Given the description of an element on the screen output the (x, y) to click on. 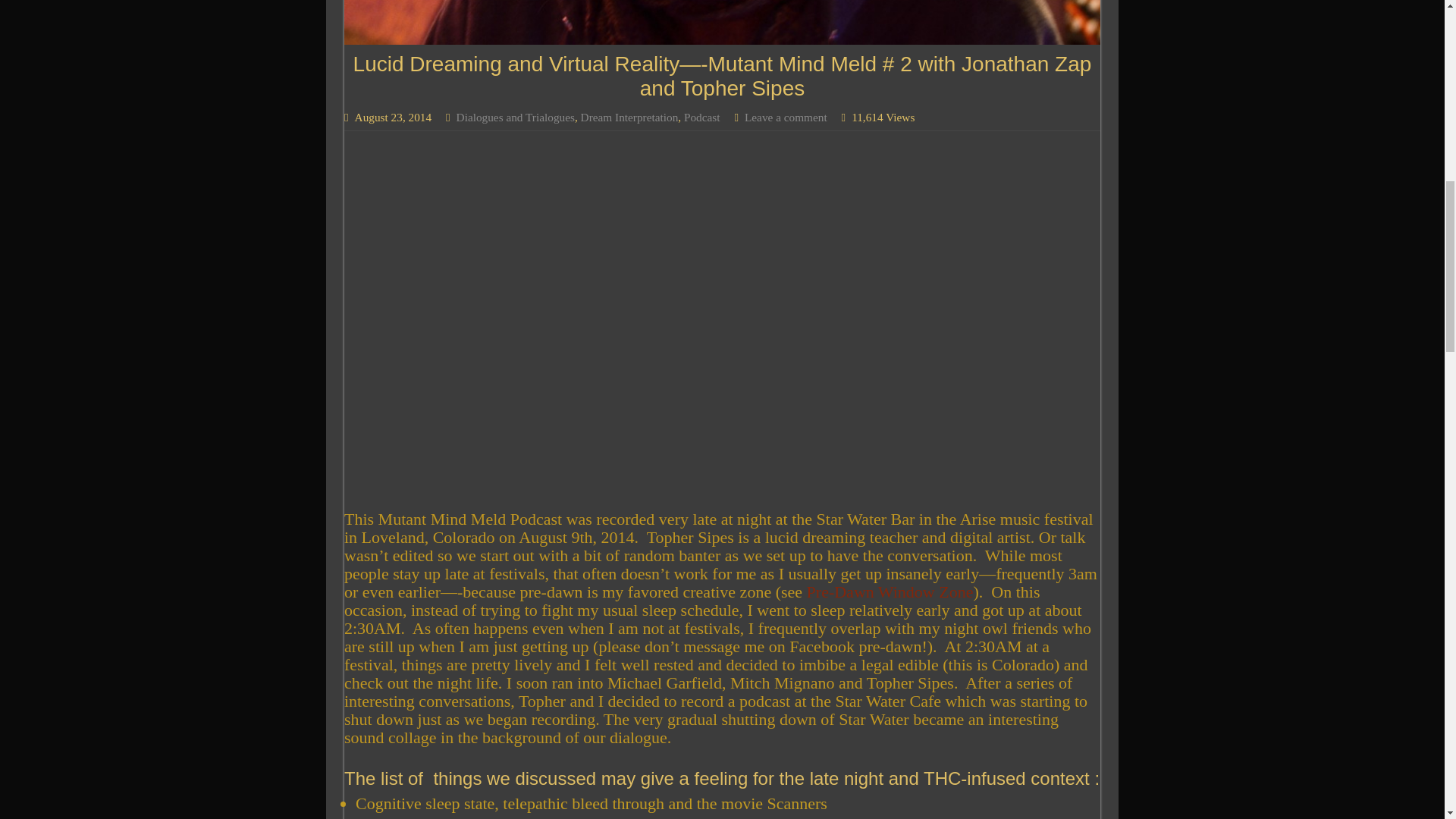
Pre-Dawn Window Zone (890, 591)
Dream Interpretation (629, 116)
Leave a comment (785, 116)
Podcast (702, 116)
Dialogues and Trialogues (516, 116)
